Given the description of an element on the screen output the (x, y) to click on. 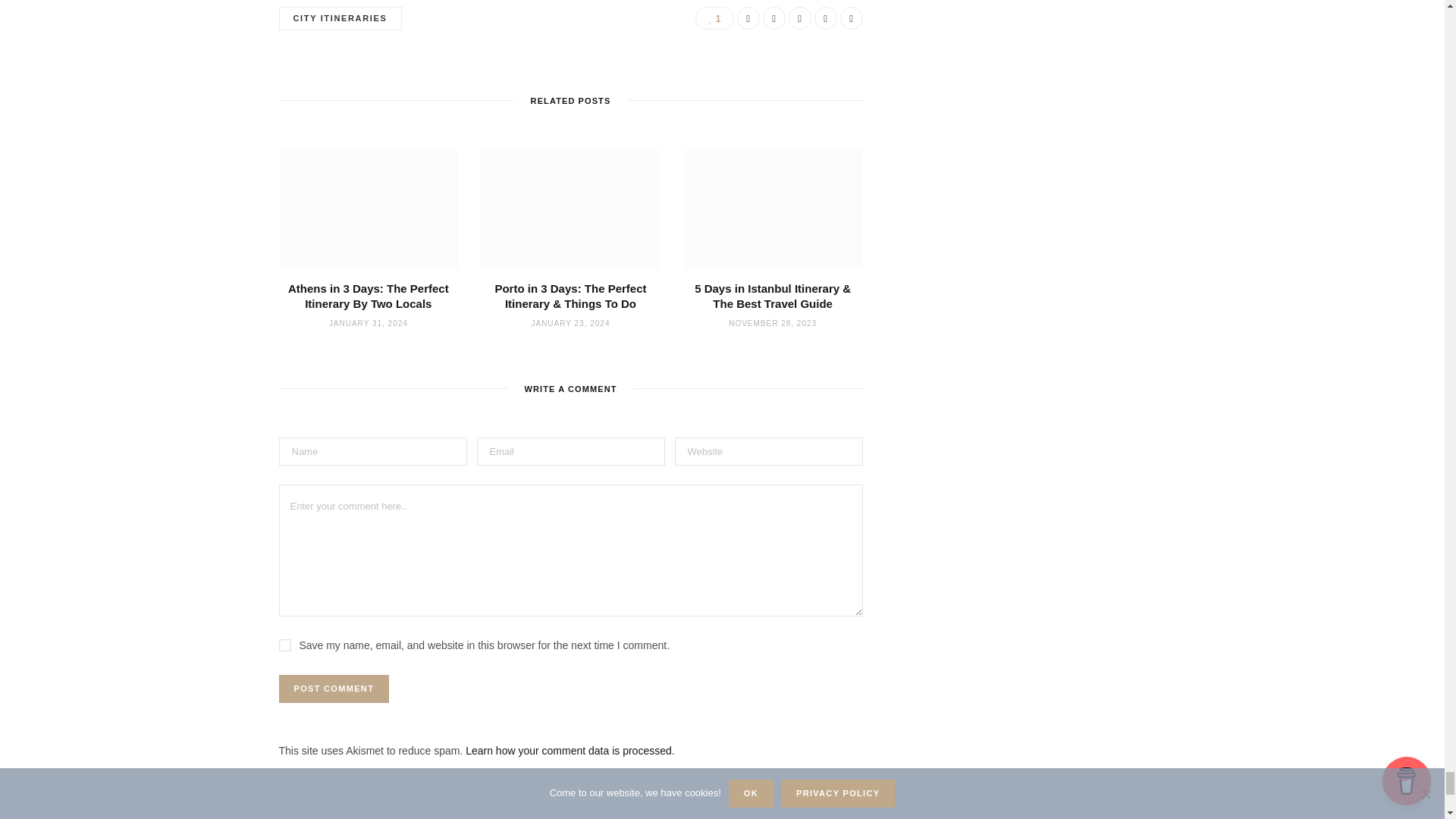
yes (285, 645)
Pinterest (851, 17)
Post Comment (334, 688)
Twitter (774, 17)
Facebook (748, 17)
LinkedIn (825, 17)
Email (799, 17)
